Given the description of an element on the screen output the (x, y) to click on. 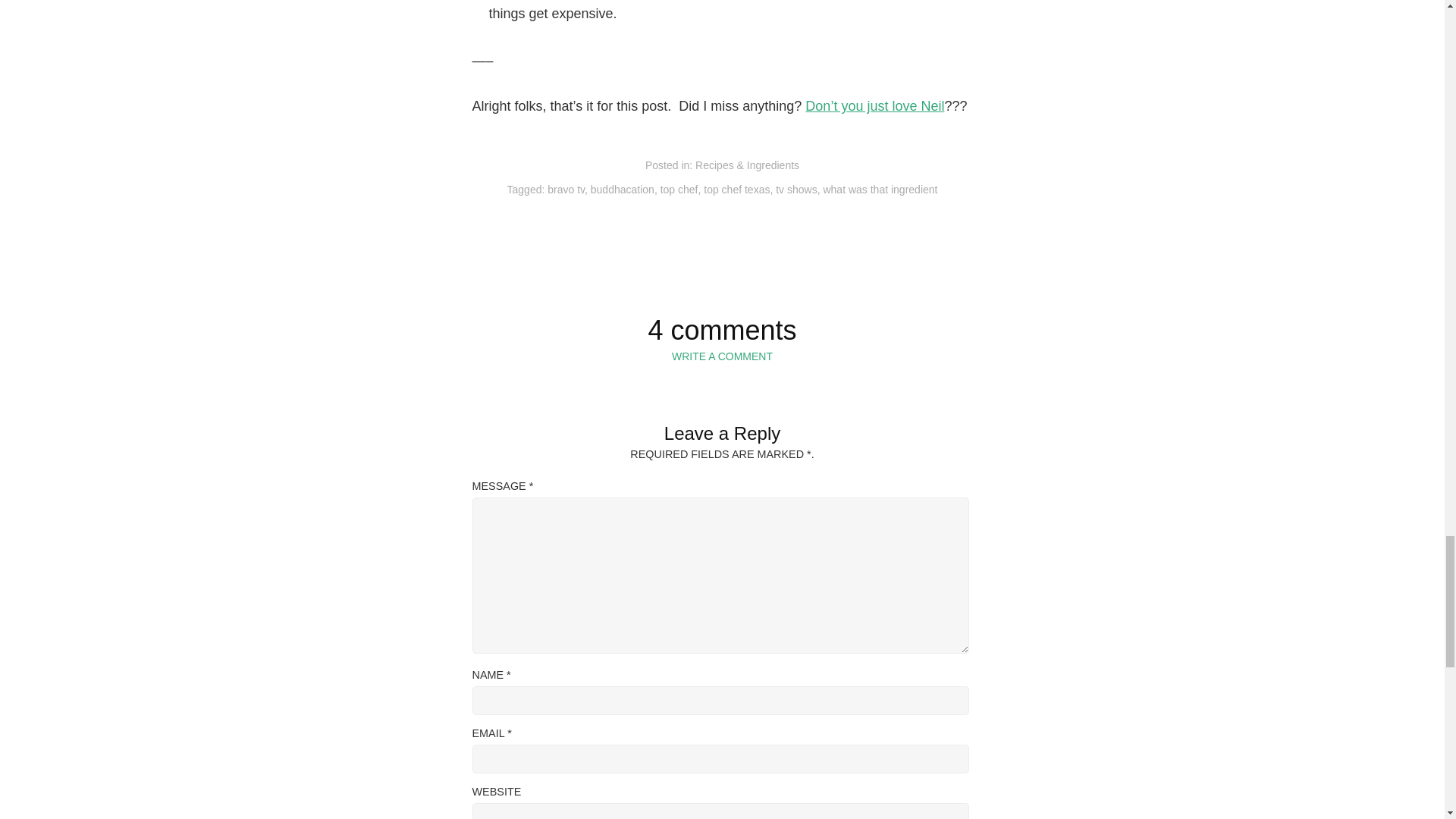
WRITE A COMMENT (722, 356)
top chef texas (736, 189)
buddhacation (622, 189)
tv shows (796, 189)
bravo tv (566, 189)
top chef (679, 189)
what was that ingredient (879, 189)
